Given the description of an element on the screen output the (x, y) to click on. 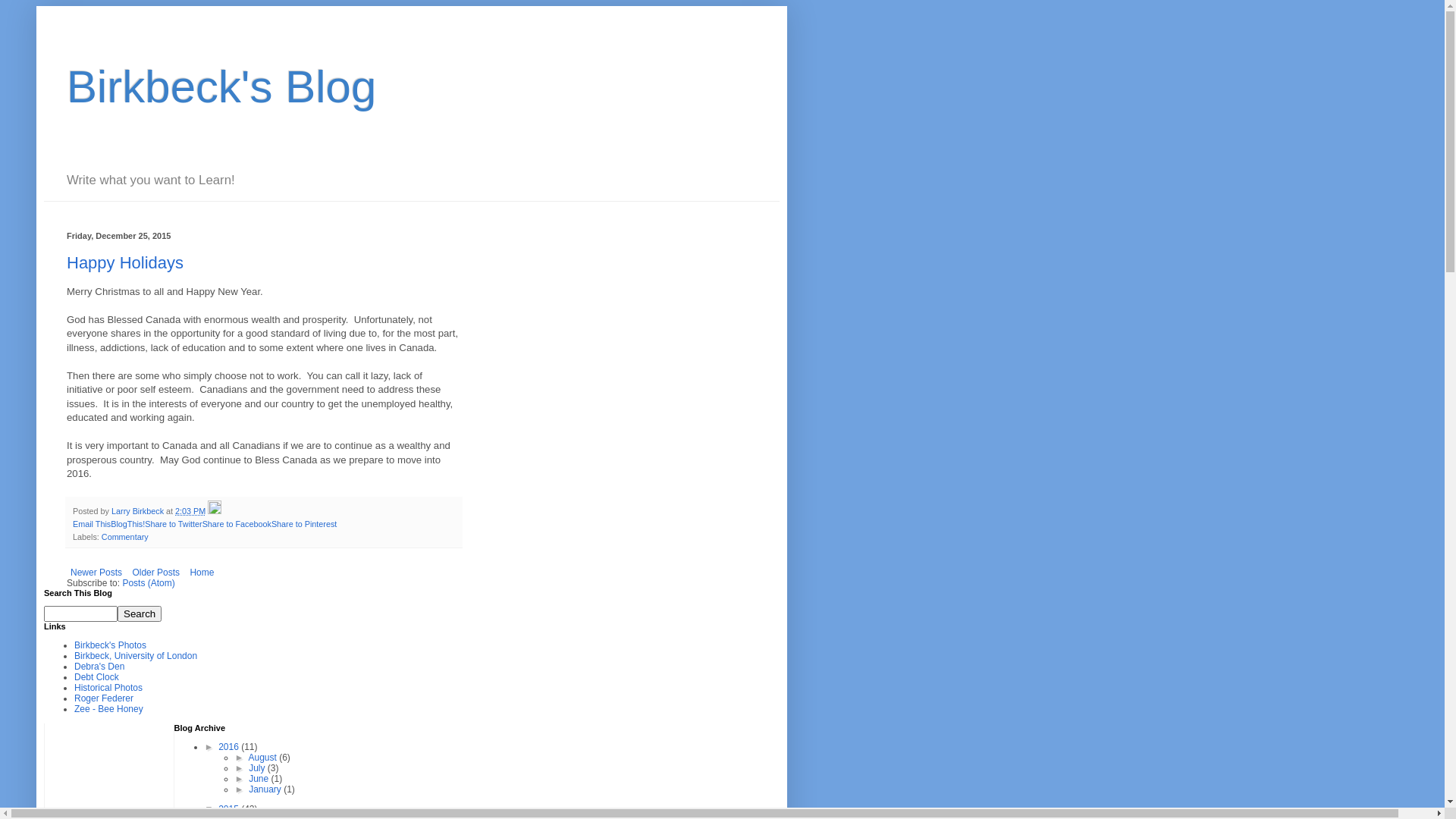
Birkbeck, University of London Element type: text (135, 655)
2015 Element type: text (229, 808)
Birkbeck's Blog Element type: text (221, 86)
Home Element type: text (201, 572)
Zee - Bee Honey Element type: text (108, 708)
BlogThis! Element type: text (127, 523)
Share to Twitter Element type: text (172, 523)
January Element type: text (265, 789)
Posts (Atom) Element type: text (148, 582)
2016 Element type: text (229, 746)
Debra's Den Element type: text (99, 666)
Roger Federer Element type: text (103, 698)
search Element type: hover (80, 613)
Email This Element type: text (91, 523)
Newer Posts Element type: text (95, 572)
Larry Birkbeck Element type: text (138, 510)
Older Posts Element type: text (155, 572)
Edit Post Element type: hover (214, 510)
Search Element type: text (139, 613)
Debt Clock Element type: text (96, 676)
Commentary Element type: text (124, 536)
Birkbeck's Photos Element type: text (110, 645)
2:03 PM Element type: text (190, 510)
August Element type: text (263, 757)
search Element type: hover (139, 613)
July Element type: text (257, 767)
Share to Pinterest Element type: text (303, 523)
Historical Photos Element type: text (108, 687)
Happy Holidays Element type: text (124, 262)
Share to Facebook Element type: text (236, 523)
June Element type: text (259, 778)
